Given the description of an element on the screen output the (x, y) to click on. 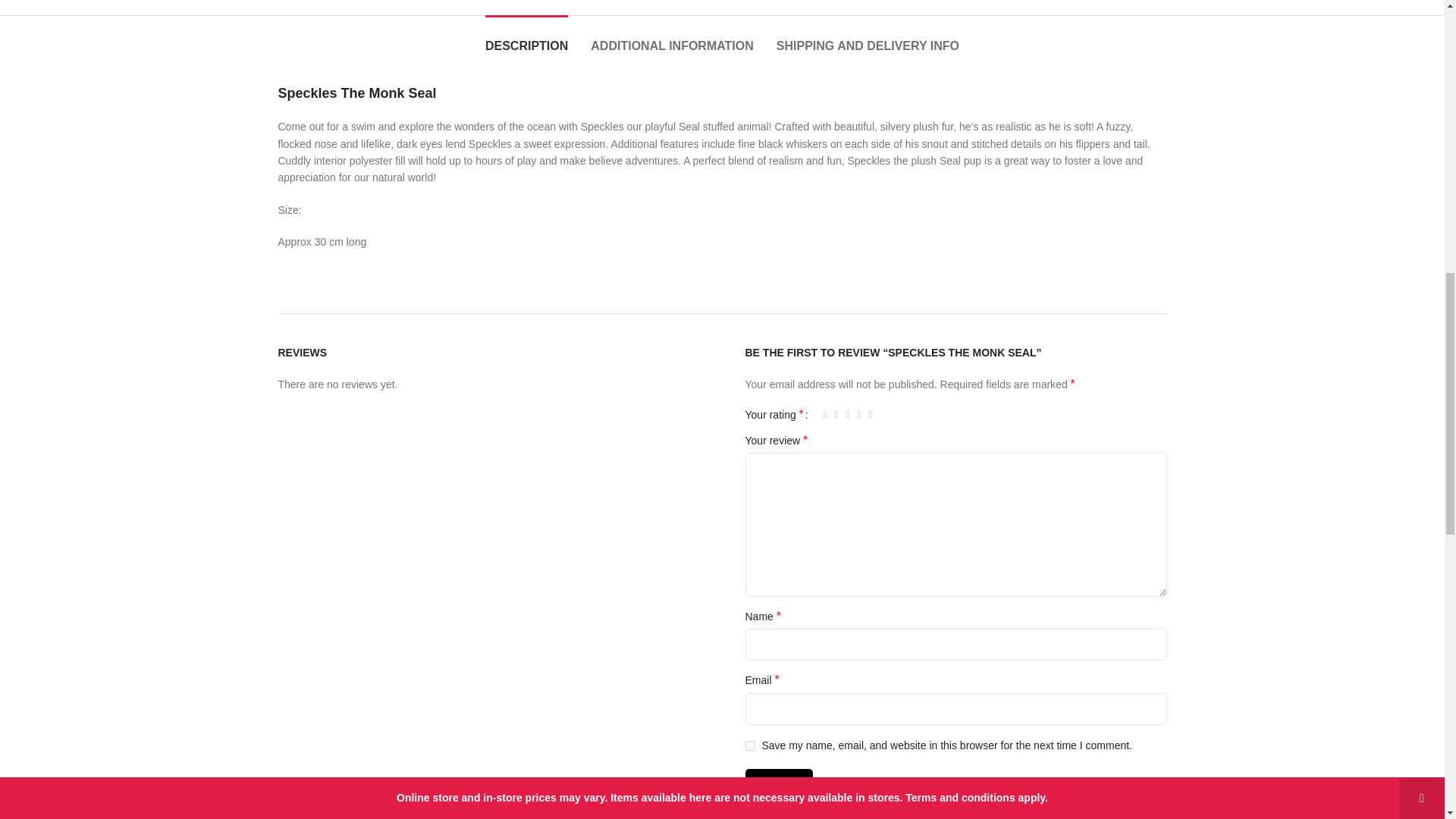
Submit (778, 784)
yes (749, 746)
